Given the description of an element on the screen output the (x, y) to click on. 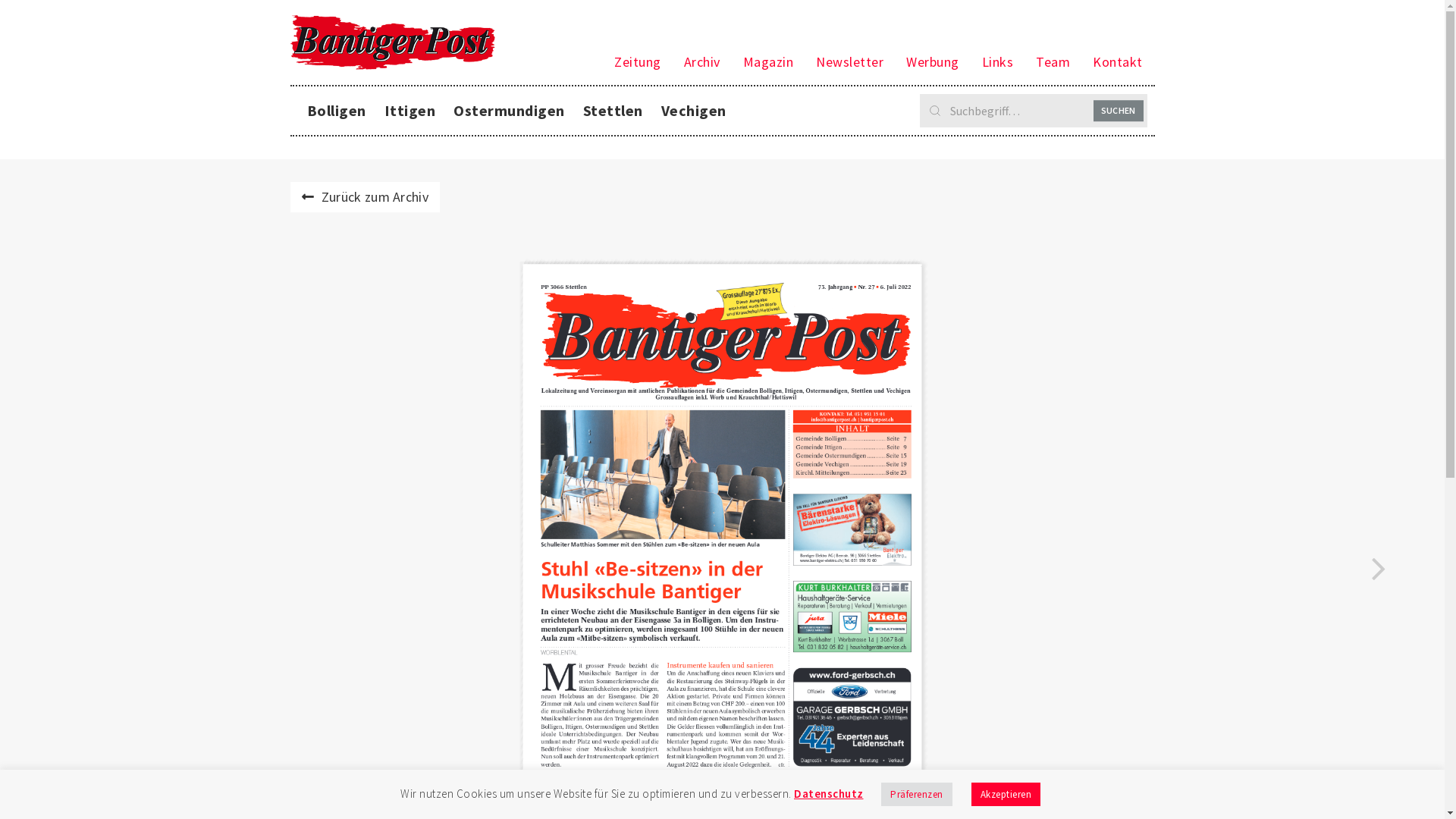
Ittigen Element type: text (409, 110)
Newsletter Element type: text (849, 61)
SUCHEN Element type: text (1118, 110)
Search Element type: hover (1032, 110)
Archiv Element type: text (701, 61)
Datenschutz Element type: text (828, 793)
Werbung Element type: text (932, 61)
Vechigen Element type: text (693, 110)
Magazin Element type: text (768, 61)
Kontakt Element type: text (1117, 61)
Zeitung Element type: text (637, 61)
Stettlen Element type: text (612, 110)
Akzeptieren Element type: text (1005, 794)
Team Element type: text (1052, 61)
Links Element type: text (997, 61)
Bolligen Element type: text (335, 110)
Ostermundigen Element type: text (509, 110)
